Given the description of an element on the screen output the (x, y) to click on. 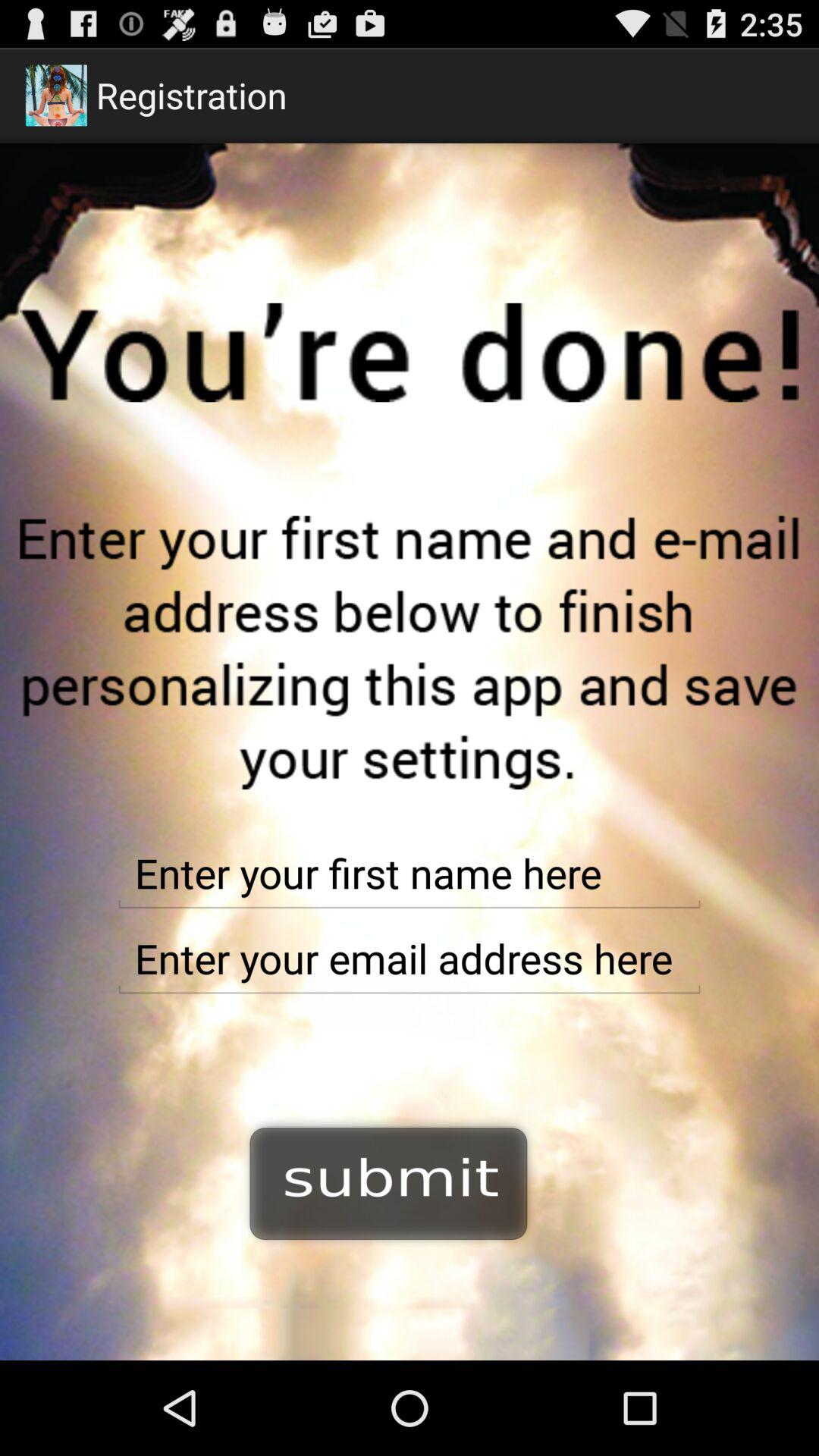
submit box (389, 1181)
